Given the description of an element on the screen output the (x, y) to click on. 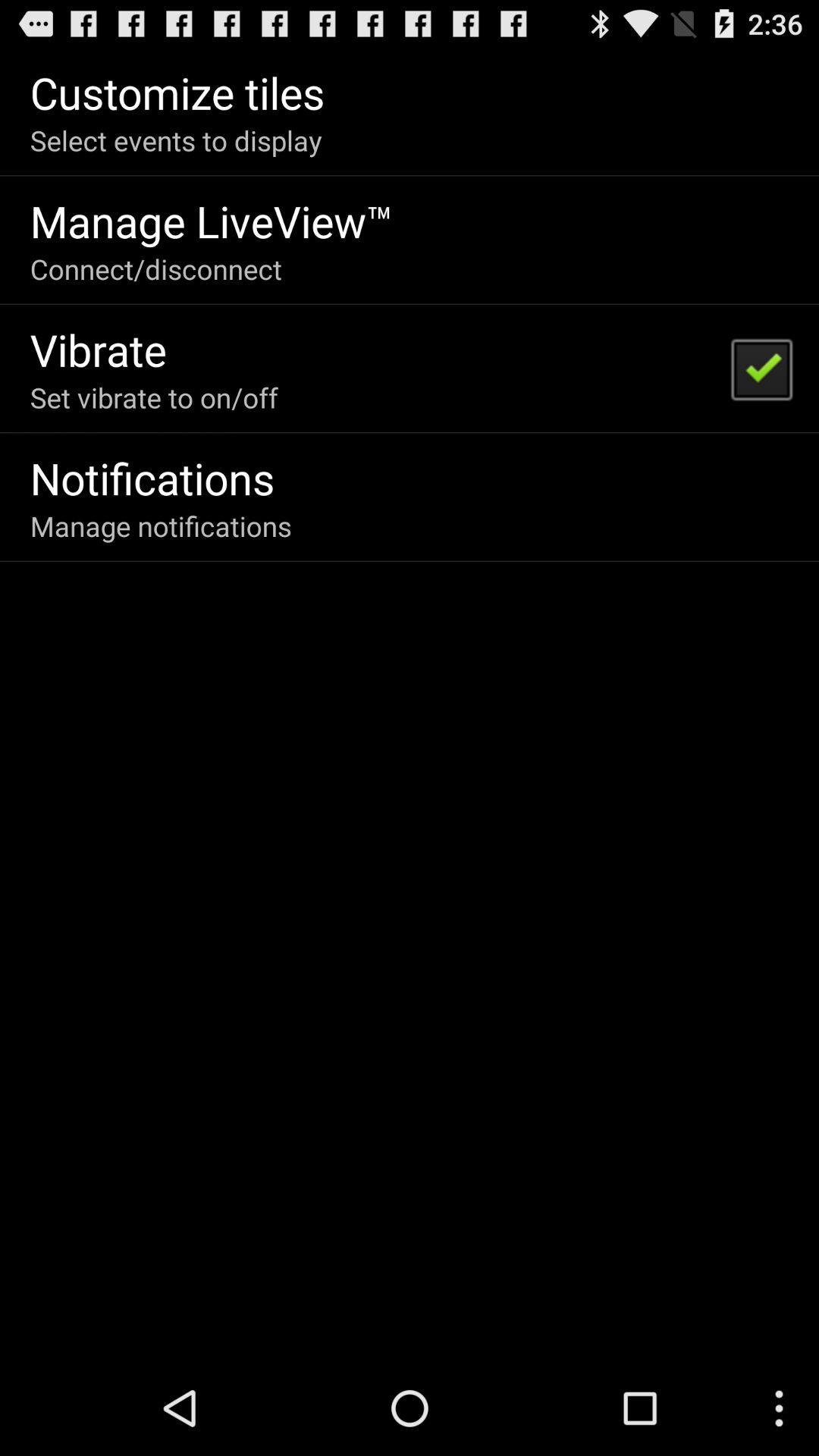
turn off the icon below select events to app (211, 220)
